Given the description of an element on the screen output the (x, y) to click on. 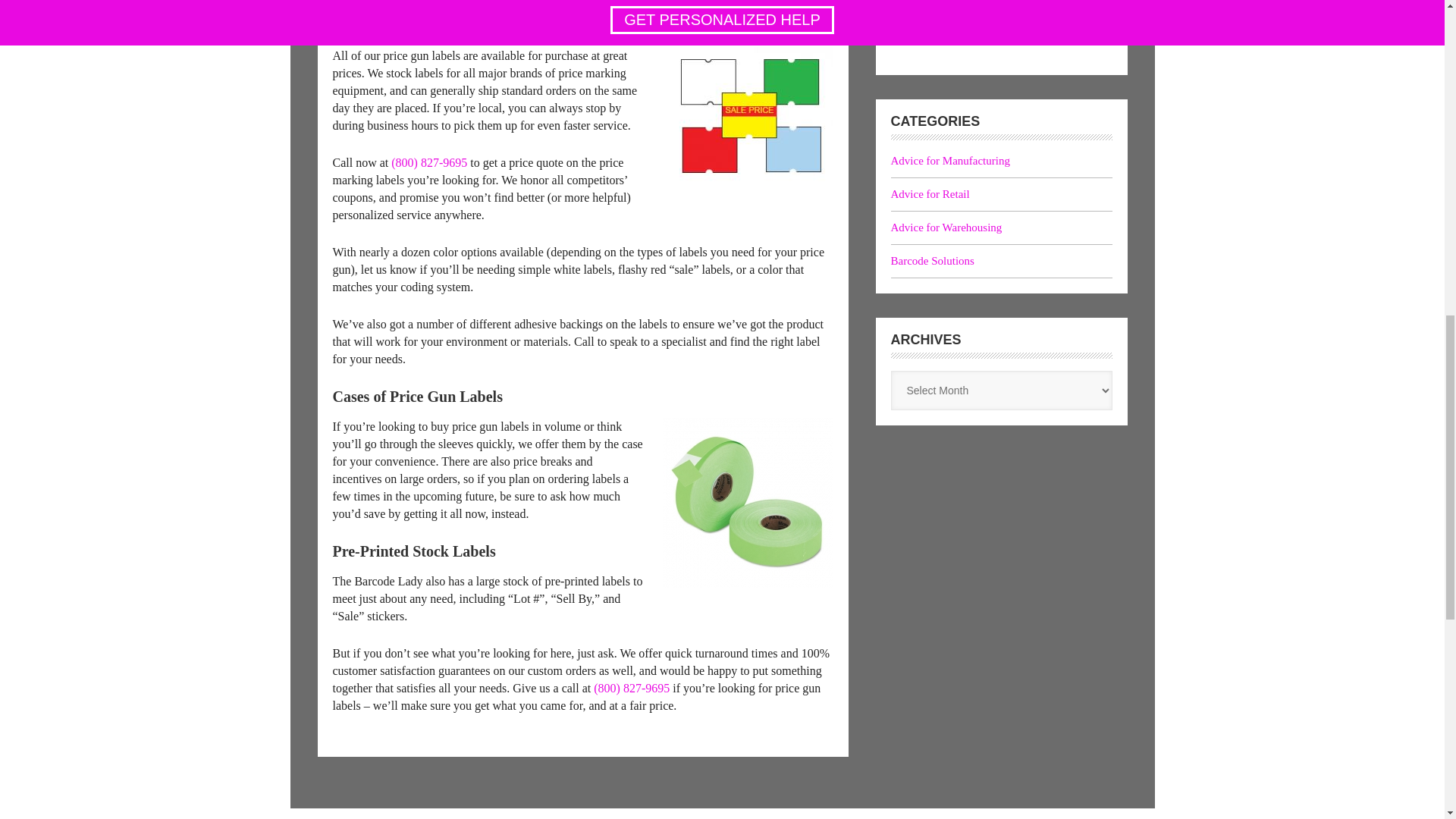
Submit (927, 24)
Submit (927, 24)
Advice for Manufacturing (949, 160)
Barcode Solutions (931, 260)
Advice for Retail (929, 193)
Advice for Warehousing (945, 227)
